Given the description of an element on the screen output the (x, y) to click on. 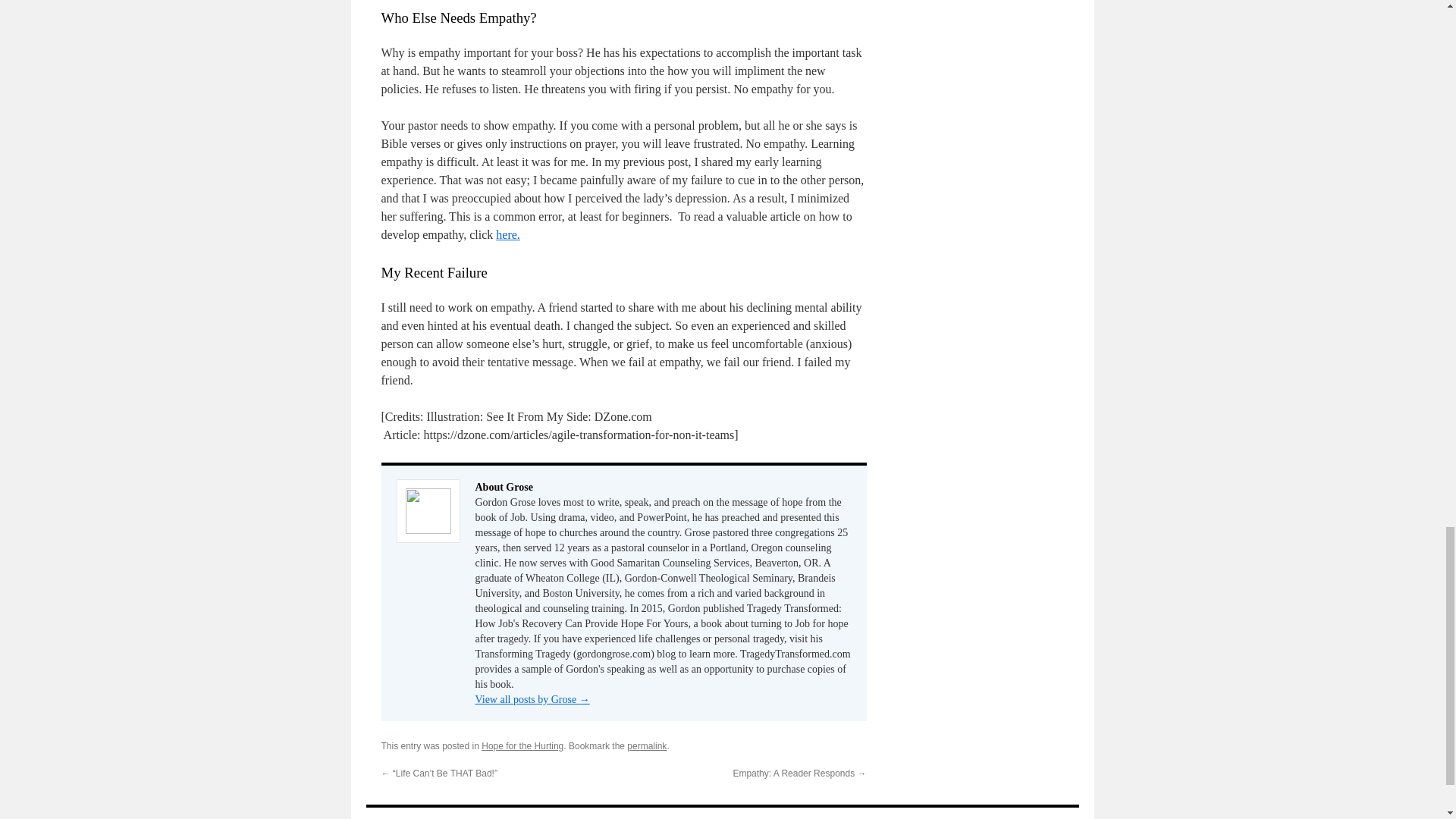
Hope for the Hurting (522, 746)
here. (507, 234)
Permalink to Why Is Empathy Important? (646, 746)
permalink (646, 746)
